Given the description of an element on the screen output the (x, y) to click on. 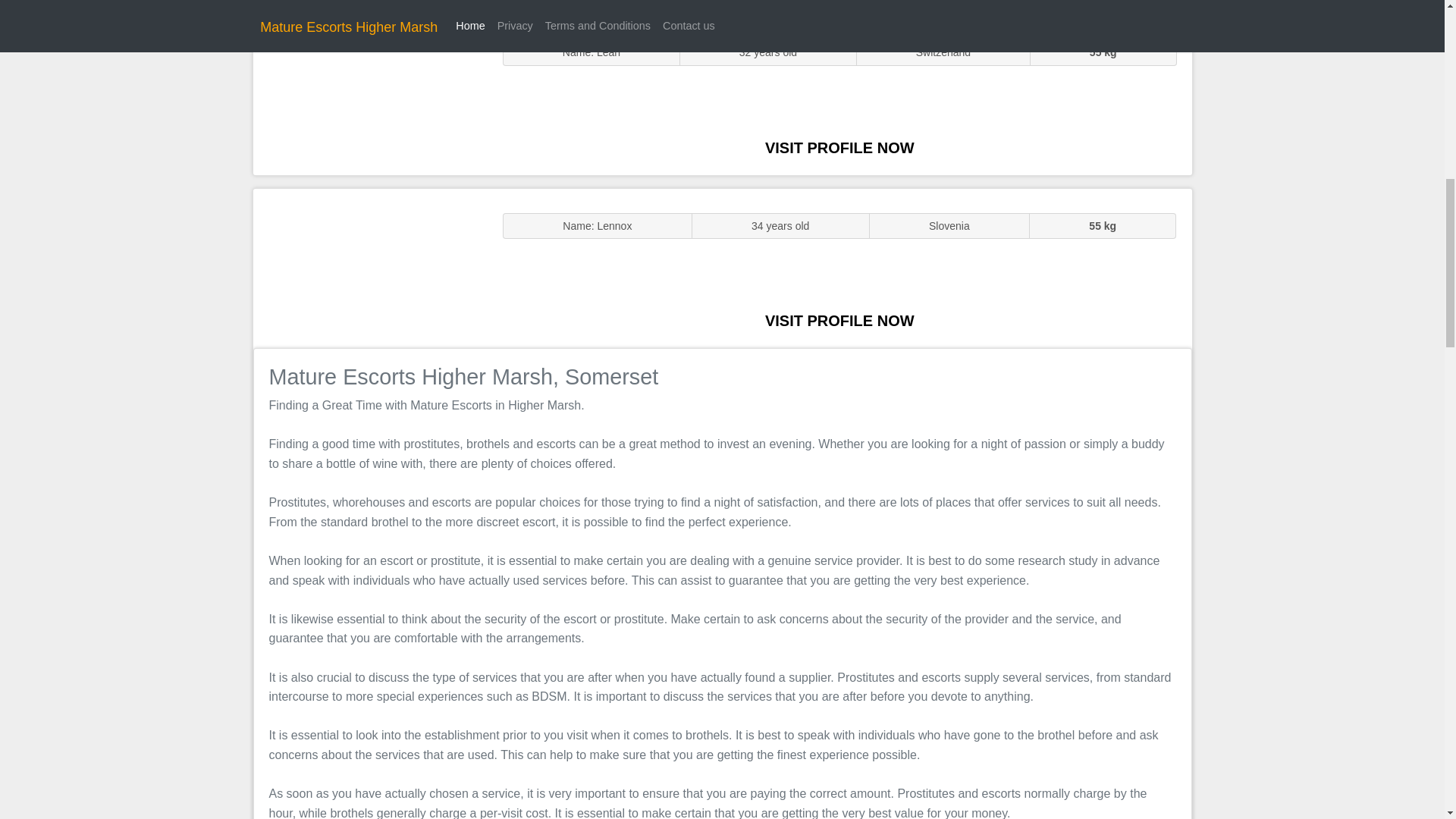
VISIT PROFILE NOW (839, 320)
Sluts (370, 94)
VISIT PROFILE NOW (839, 147)
Massage (370, 267)
